Given the description of an element on the screen output the (x, y) to click on. 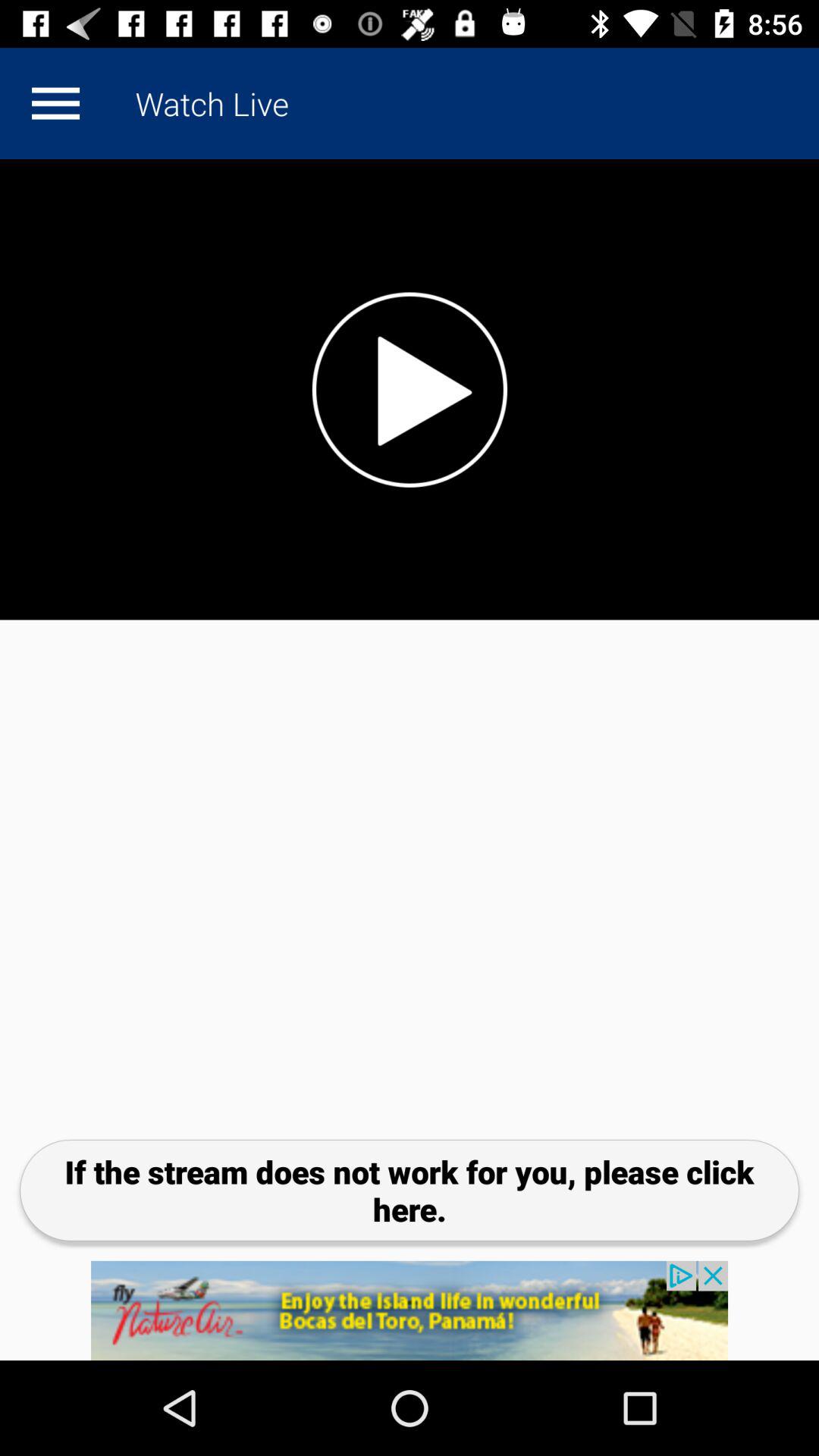
open advertisement (409, 1310)
